Given the description of an element on the screen output the (x, y) to click on. 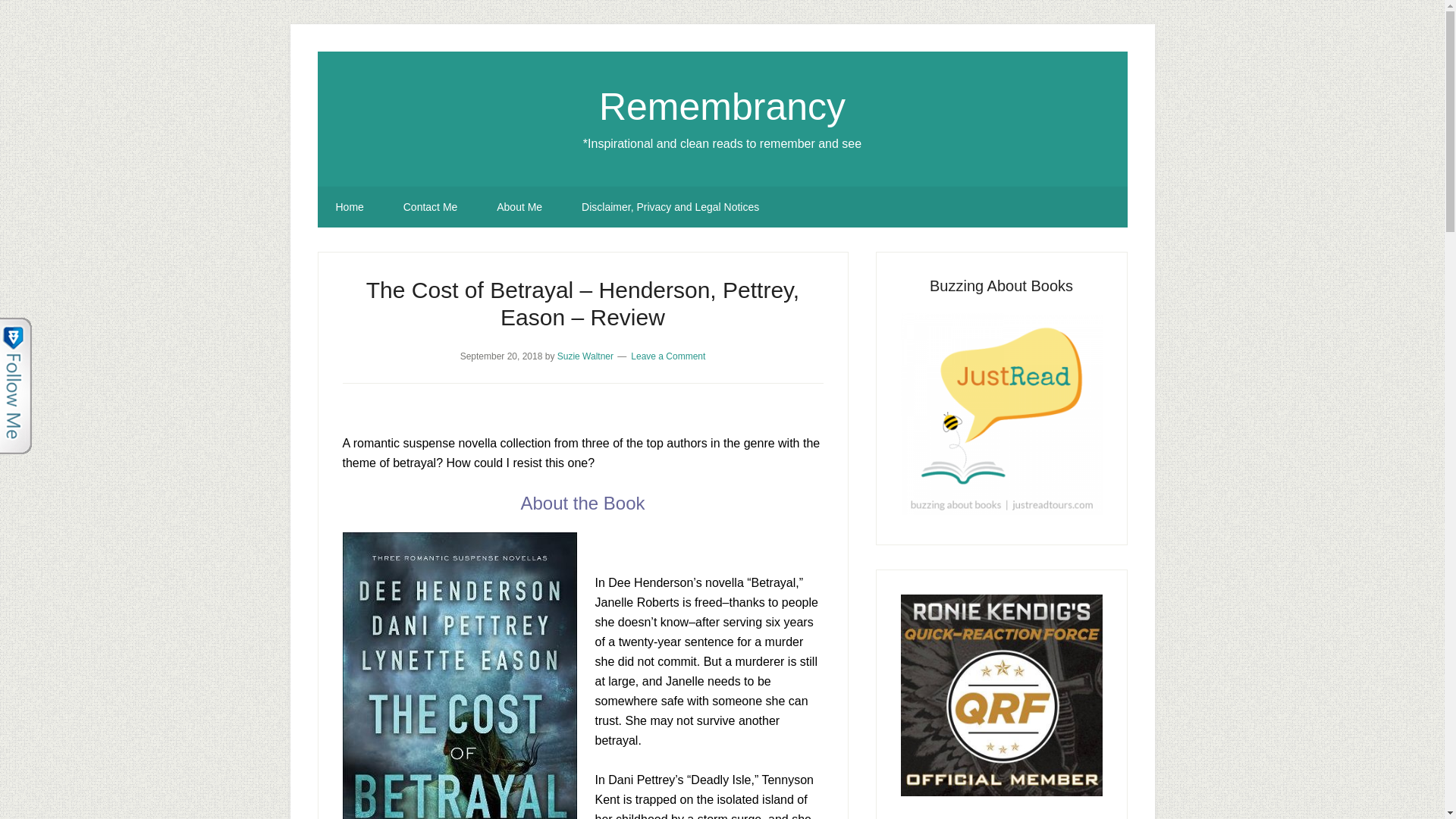
Remembrancy (721, 106)
Home (349, 206)
Contact Me (430, 206)
Leave a Comment (667, 356)
Disclaimer, Privacy and Legal Notices (670, 206)
Suzie Waltner (584, 356)
About Me (519, 206)
